Given the description of an element on the screen output the (x, y) to click on. 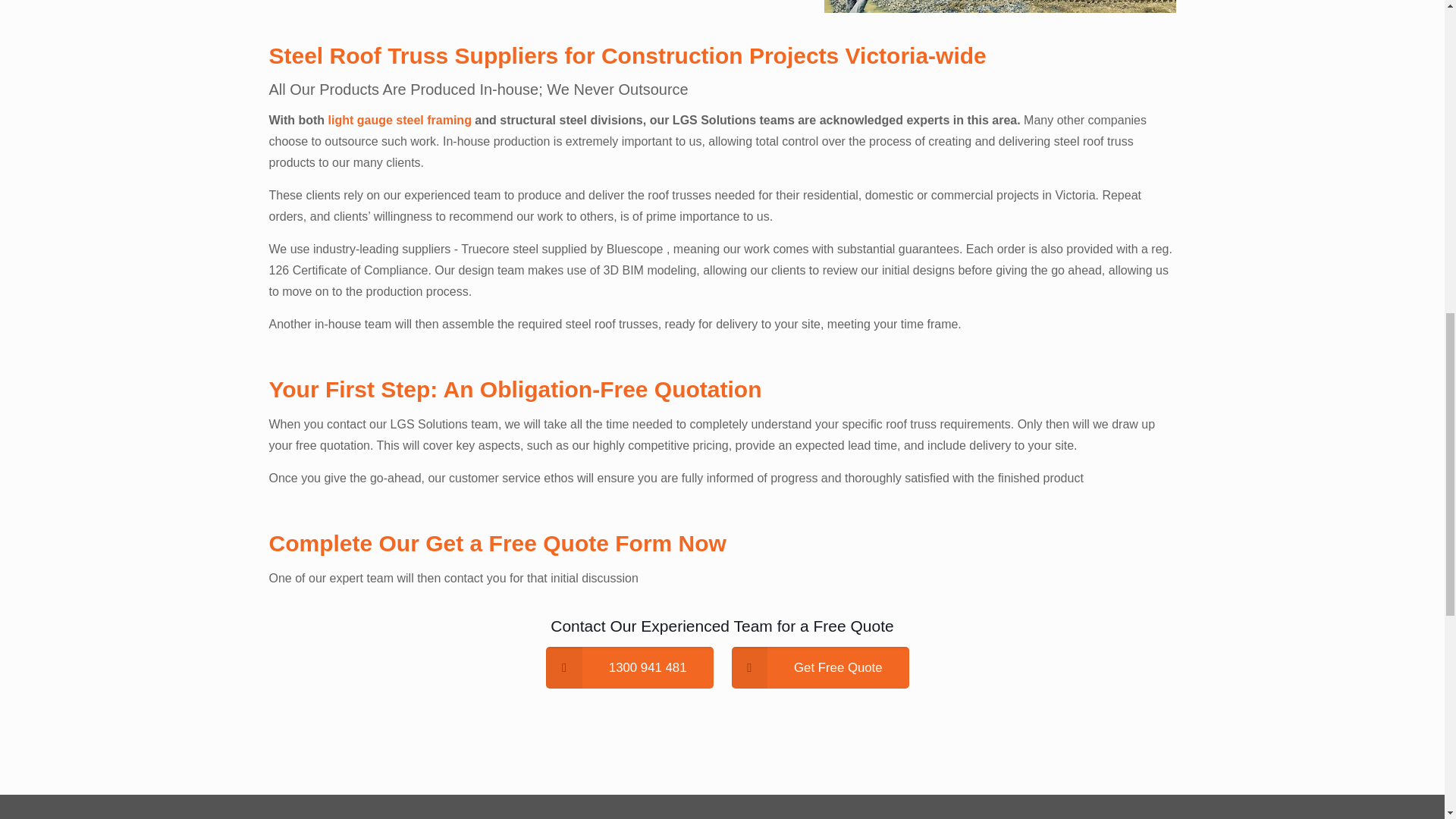
light gauge steel framing (400, 119)
1300 941 481 (629, 667)
Get Free Quote (819, 667)
